Given the description of an element on the screen output the (x, y) to click on. 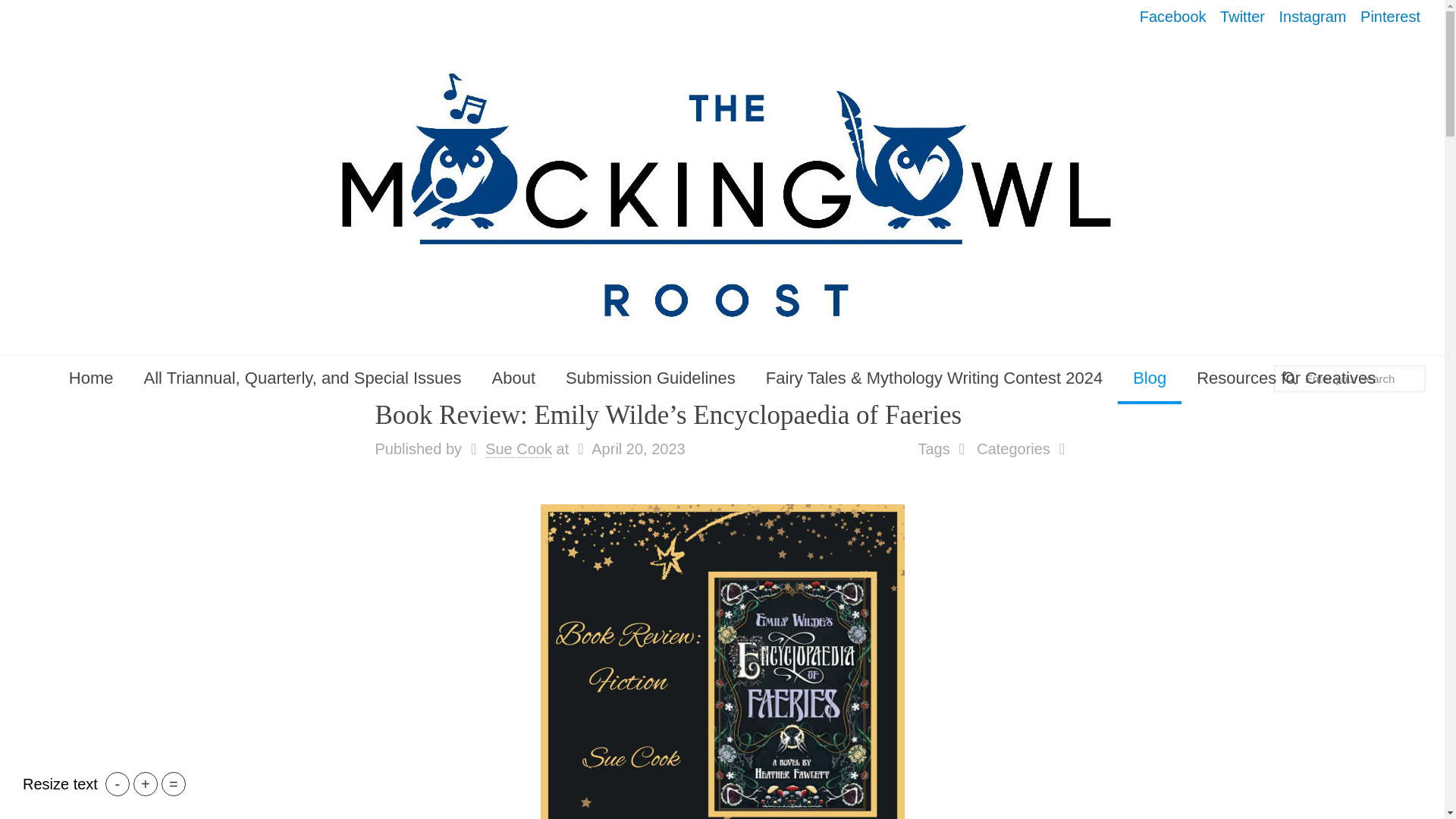
Home (91, 378)
Facebook (1173, 16)
Instagram (1312, 16)
Reset text size (173, 784)
About (514, 378)
All Triannual, Quarterly, and Special Issues (303, 378)
Decrease text size (116, 784)
Submission Guidelines (650, 378)
Blog (1149, 378)
Twitter (1242, 16)
Increase text size (145, 784)
Pinterest (1390, 16)
